Given the description of an element on the screen output the (x, y) to click on. 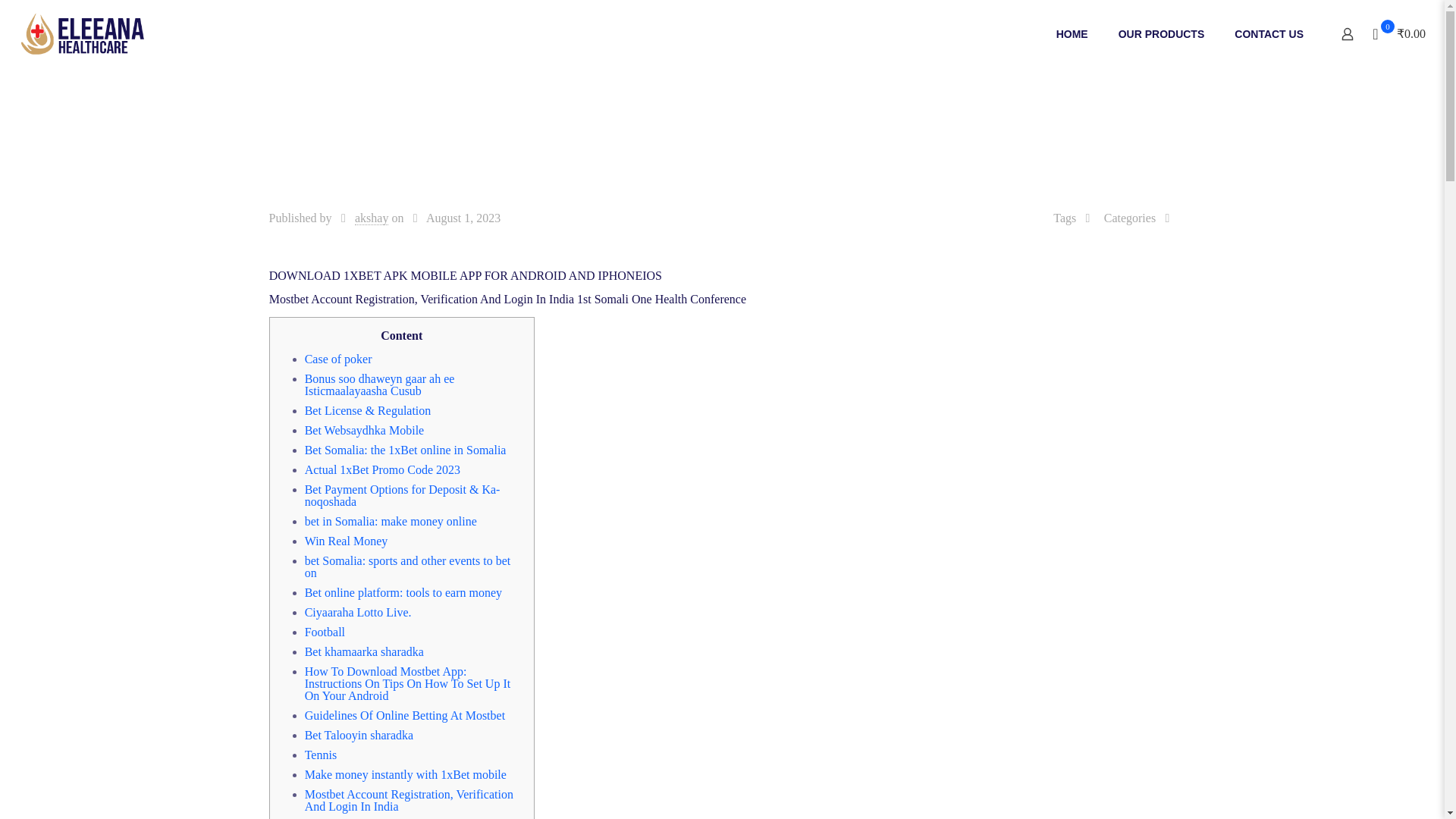
Case of poker (338, 358)
Eleeana Healthcare pvt. ltd. (80, 33)
Bet Somalia: the 1xBet online in Somalia (405, 449)
Win Real Money (346, 540)
CONTACT US (1269, 33)
Bet Talooyin sharadka (358, 735)
Bet Websaydhka Mobile (364, 430)
Tennis (320, 754)
